Given the description of an element on the screen output the (x, y) to click on. 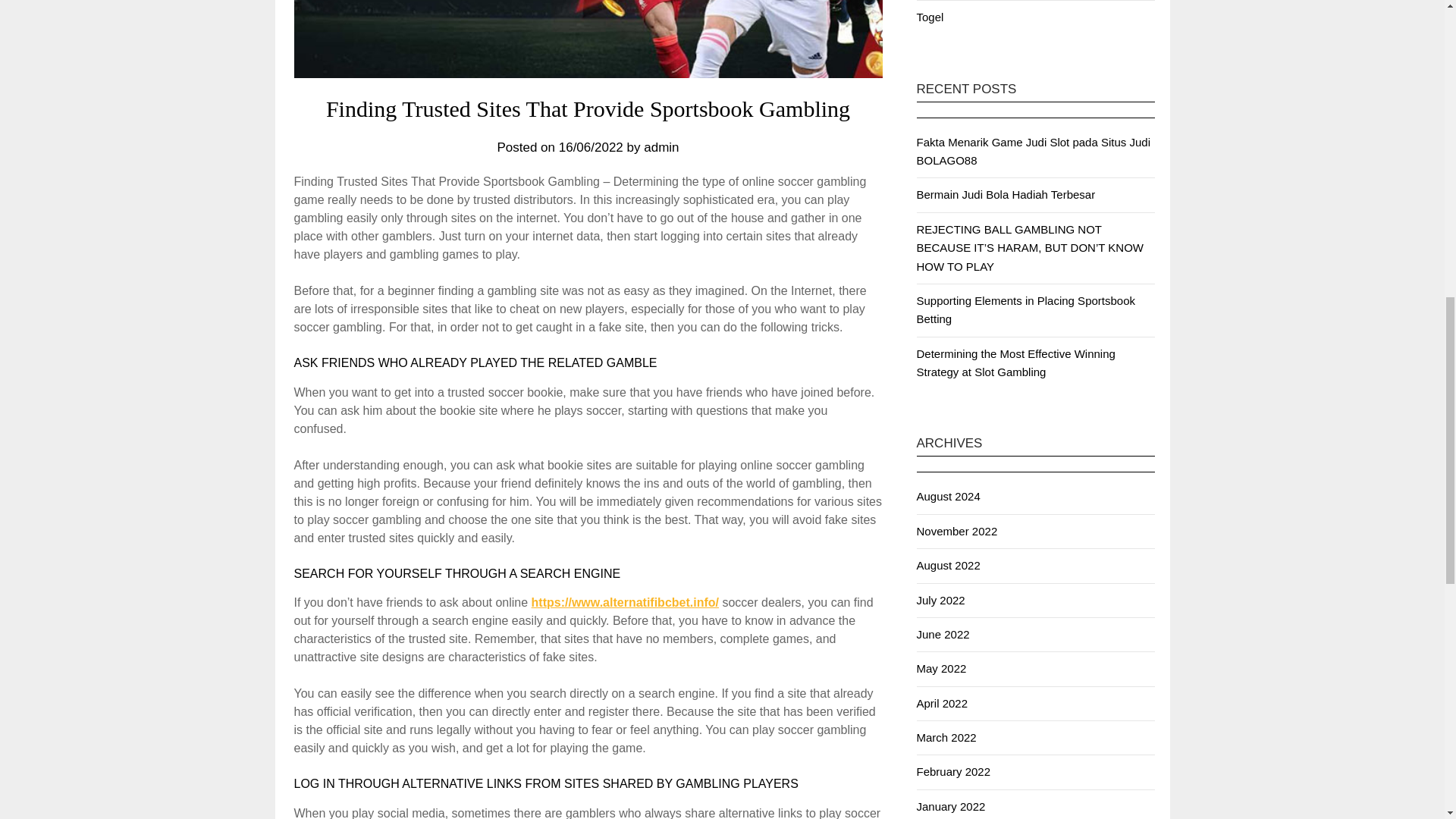
Bermain Judi Bola Hadiah Terbesar (1004, 194)
April 2022 (941, 703)
Togel (929, 16)
Supporting Elements in Placing Sportsbook Betting (1025, 309)
May 2022 (940, 667)
November 2022 (956, 530)
June 2022 (942, 634)
March 2022 (945, 737)
Fakta Menarik Game Judi Slot pada Situs Judi BOLAGO88 (1032, 151)
